Given the description of an element on the screen output the (x, y) to click on. 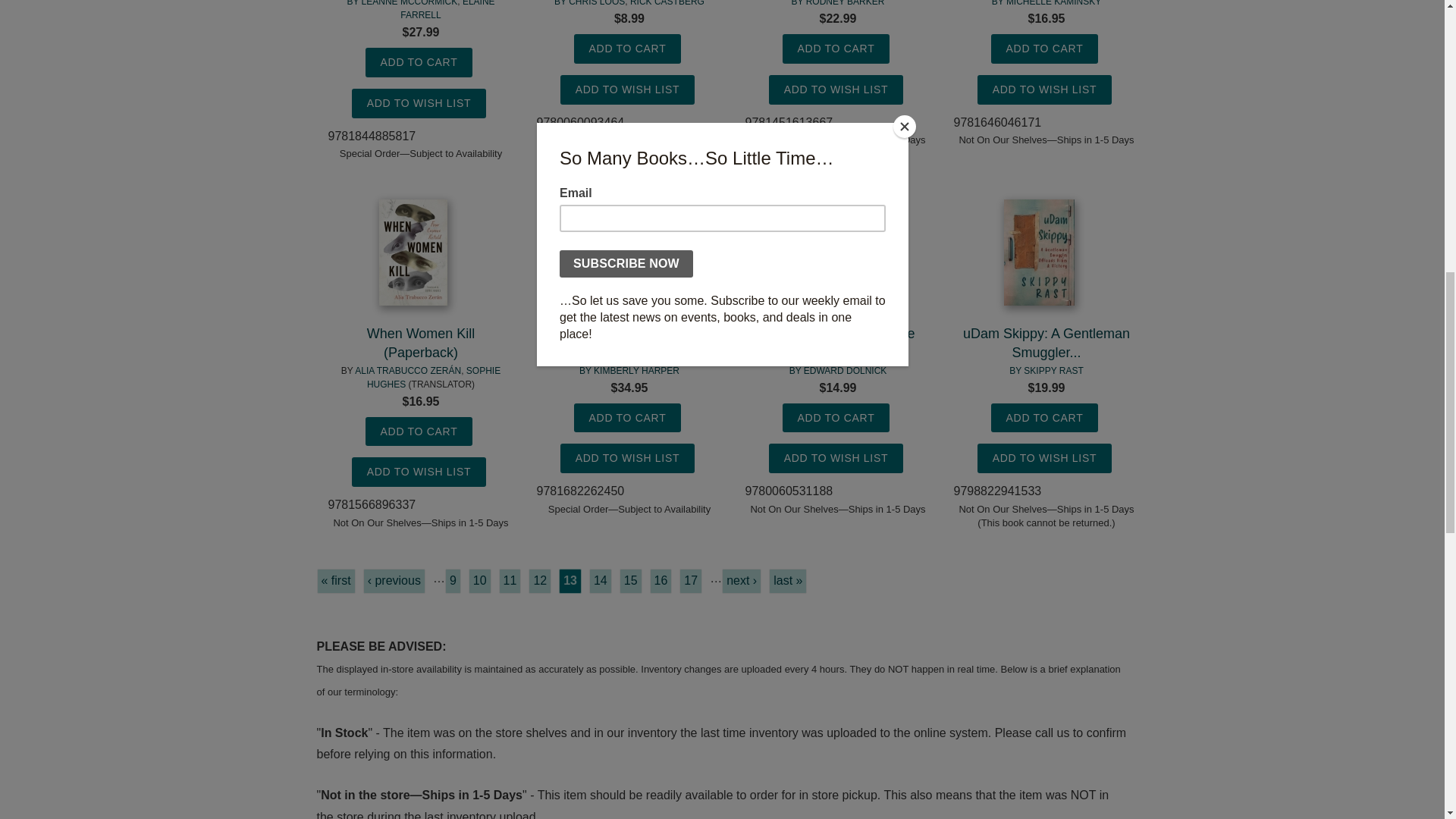
Add to Wish List (627, 89)
Add to Wish List (419, 102)
Add to Wish List (1044, 89)
Add to Cart (627, 48)
Add to Cart (836, 48)
Add to Cart (1045, 48)
Add to Wish List (835, 89)
Add to Cart (419, 431)
Add to Cart (419, 61)
Add to Wish List (419, 471)
